Given the description of an element on the screen output the (x, y) to click on. 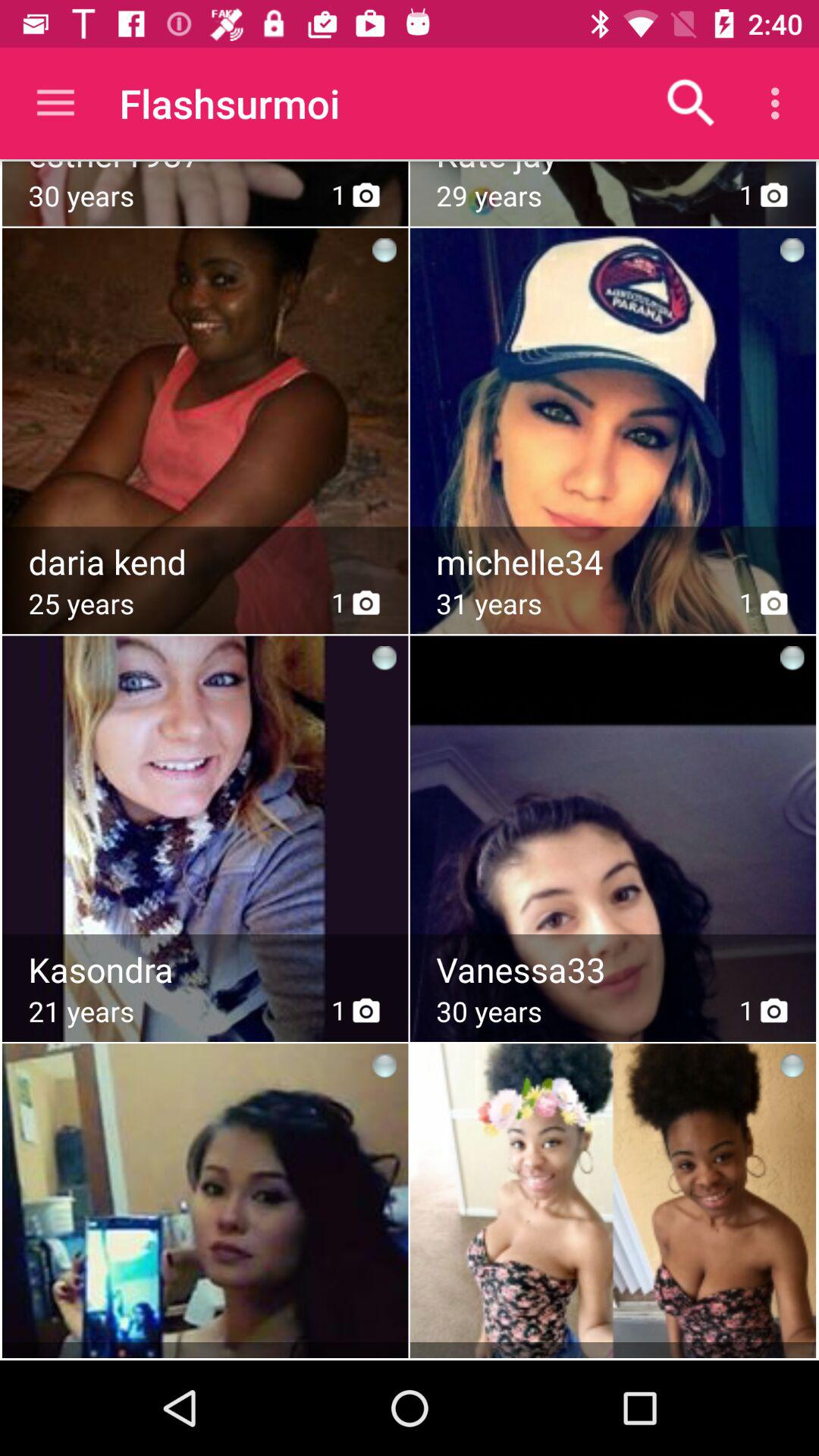
number (614, 562)
